Given the description of an element on the screen output the (x, y) to click on. 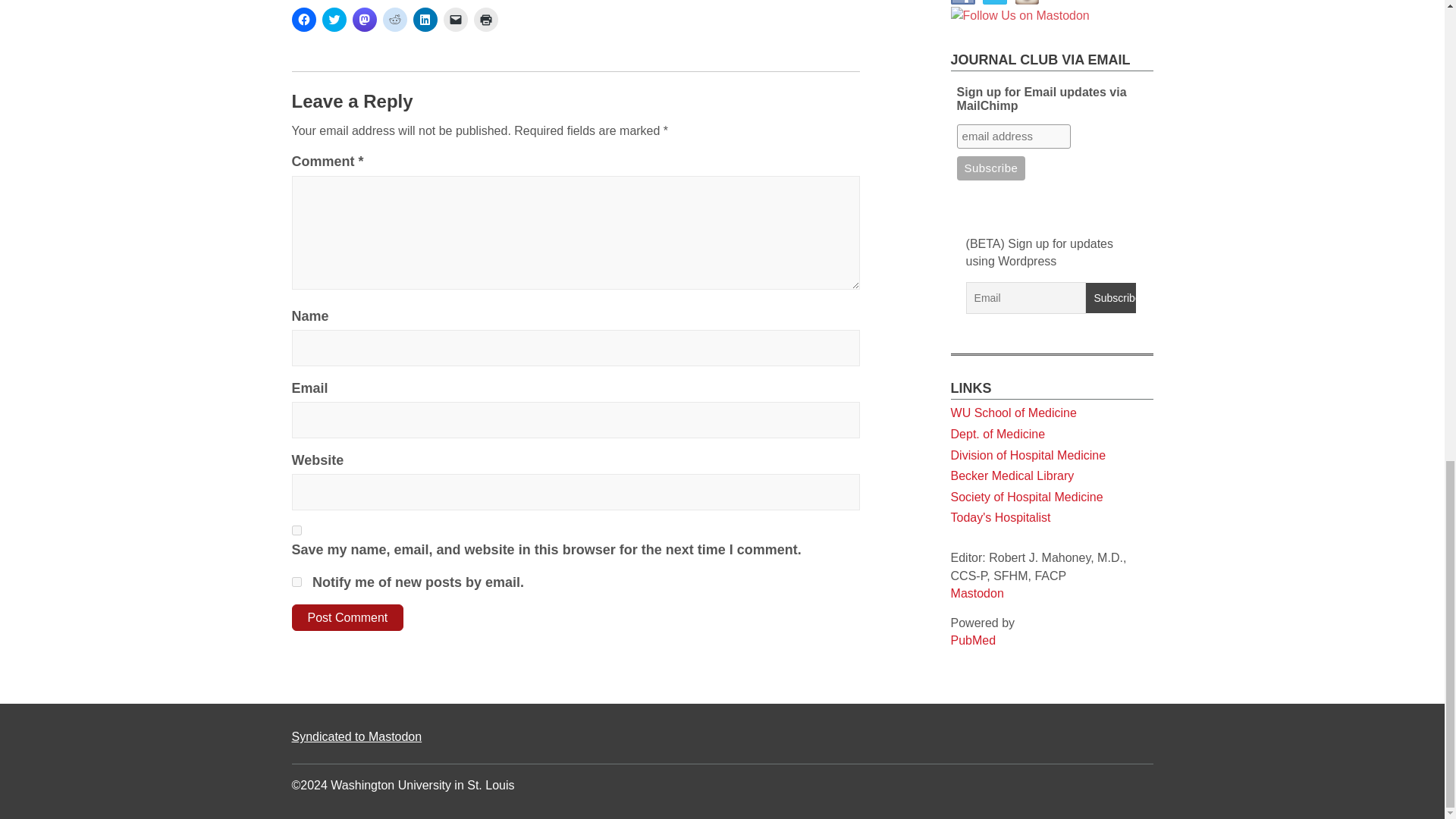
subscribe (296, 582)
Post Comment (347, 617)
Click to share on Mastodon (363, 19)
Click to email a link to a friend (454, 19)
yes (296, 530)
Click to share on Reddit (393, 19)
Click to share on Facebook (303, 19)
Click to print (485, 19)
Click to share on LinkedIn (424, 19)
Click to share on Twitter (333, 19)
Post Comment (347, 617)
